Given the description of an element on the screen output the (x, y) to click on. 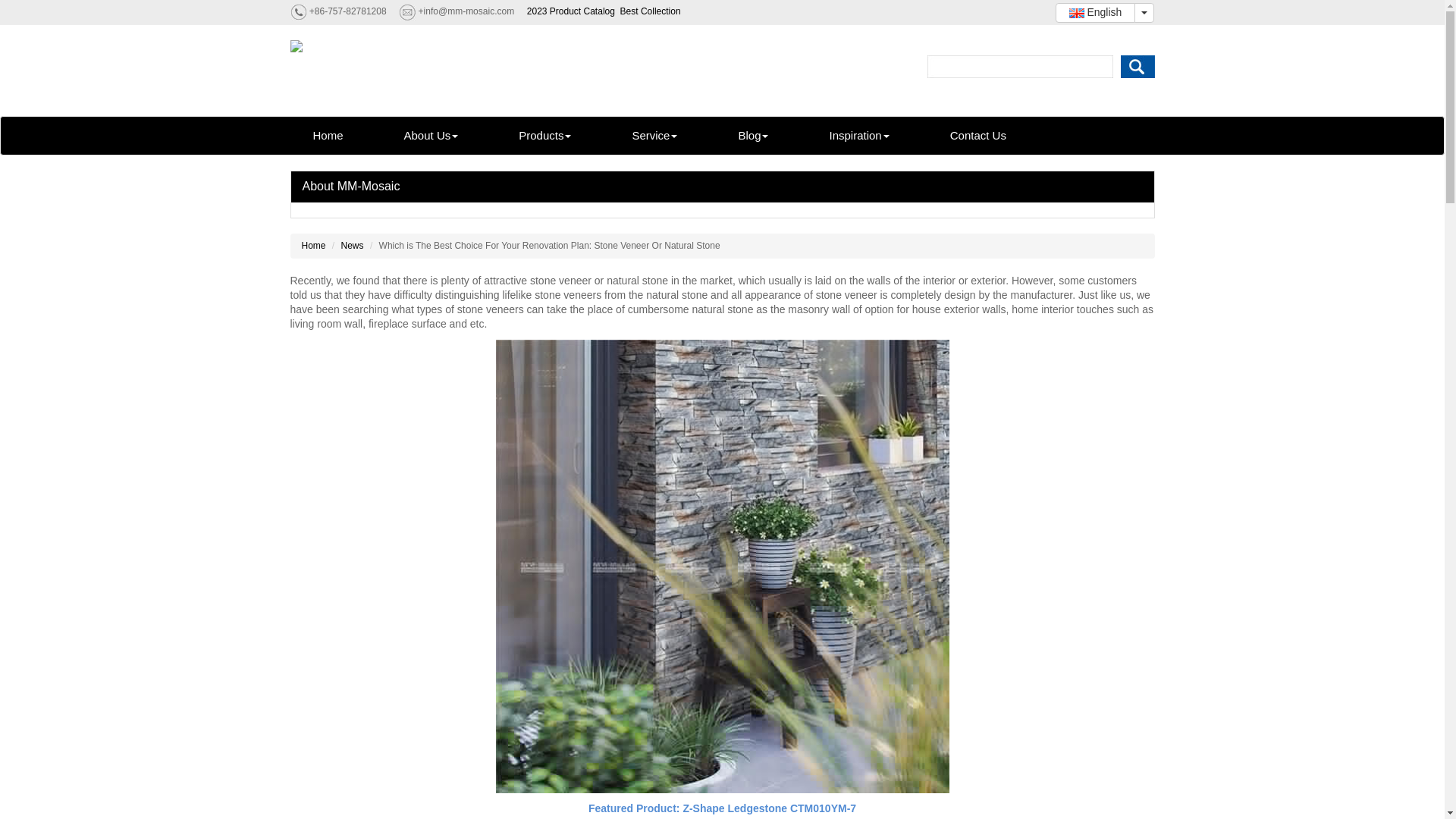
2023 Product Catalog (570, 10)
About Us (431, 135)
Home (328, 135)
English (1095, 12)
Best Collection (650, 10)
Products (544, 135)
